Given the description of an element on the screen output the (x, y) to click on. 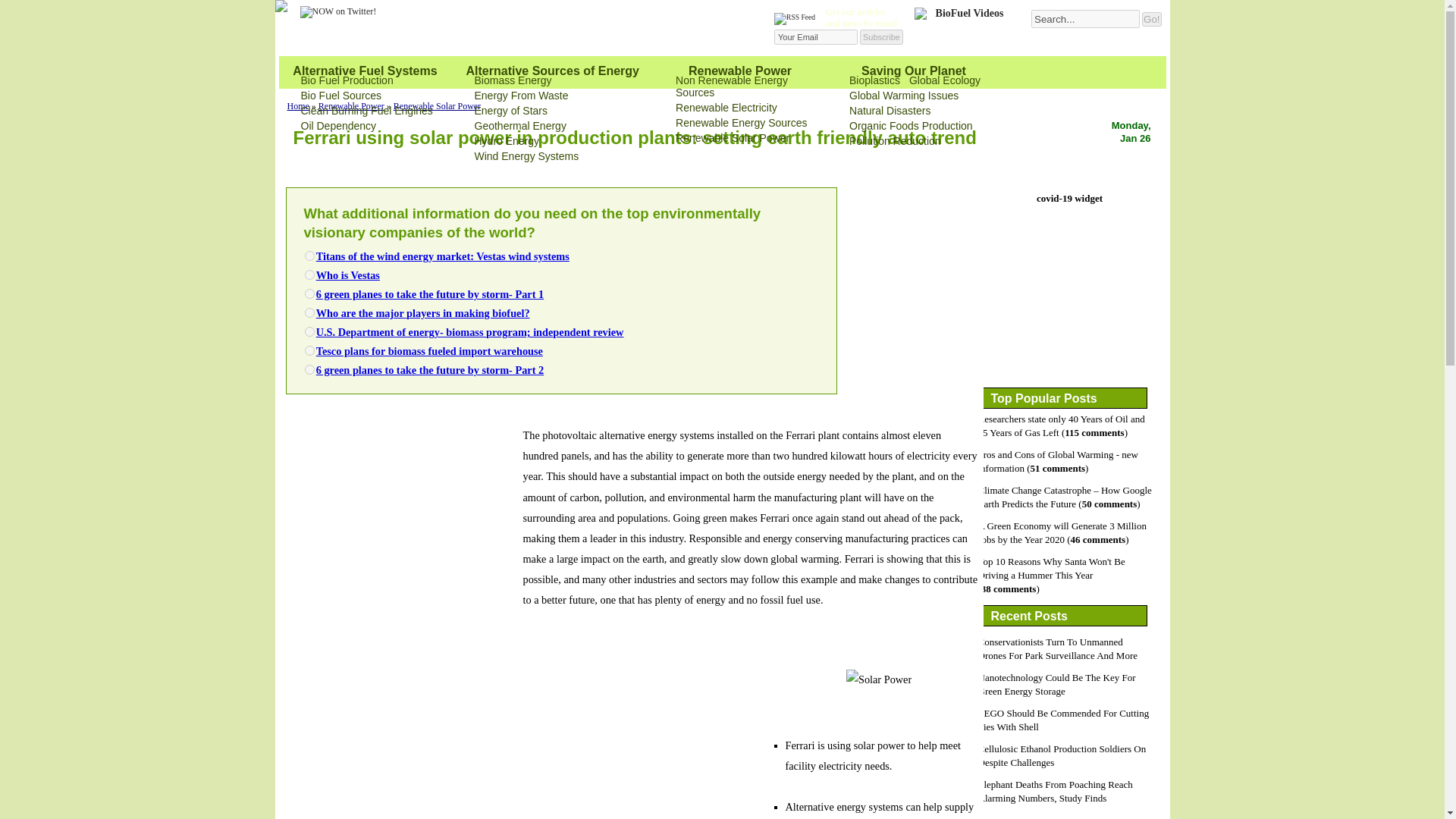
Saving Our Planet (913, 70)
BioFuel Videos (962, 28)
Geothermal Energy (520, 125)
Go! (1150, 19)
Renewable Energy Sources (741, 122)
Organic Foods Production (910, 125)
Non Renewable Energy Sources (731, 86)
Energy of Stars (511, 110)
Home (297, 105)
on (309, 255)
Renewable Solar Power (732, 137)
Go! (1150, 19)
Bioplastics (873, 80)
on (309, 331)
Global Ecology (943, 80)
